Given the description of an element on the screen output the (x, y) to click on. 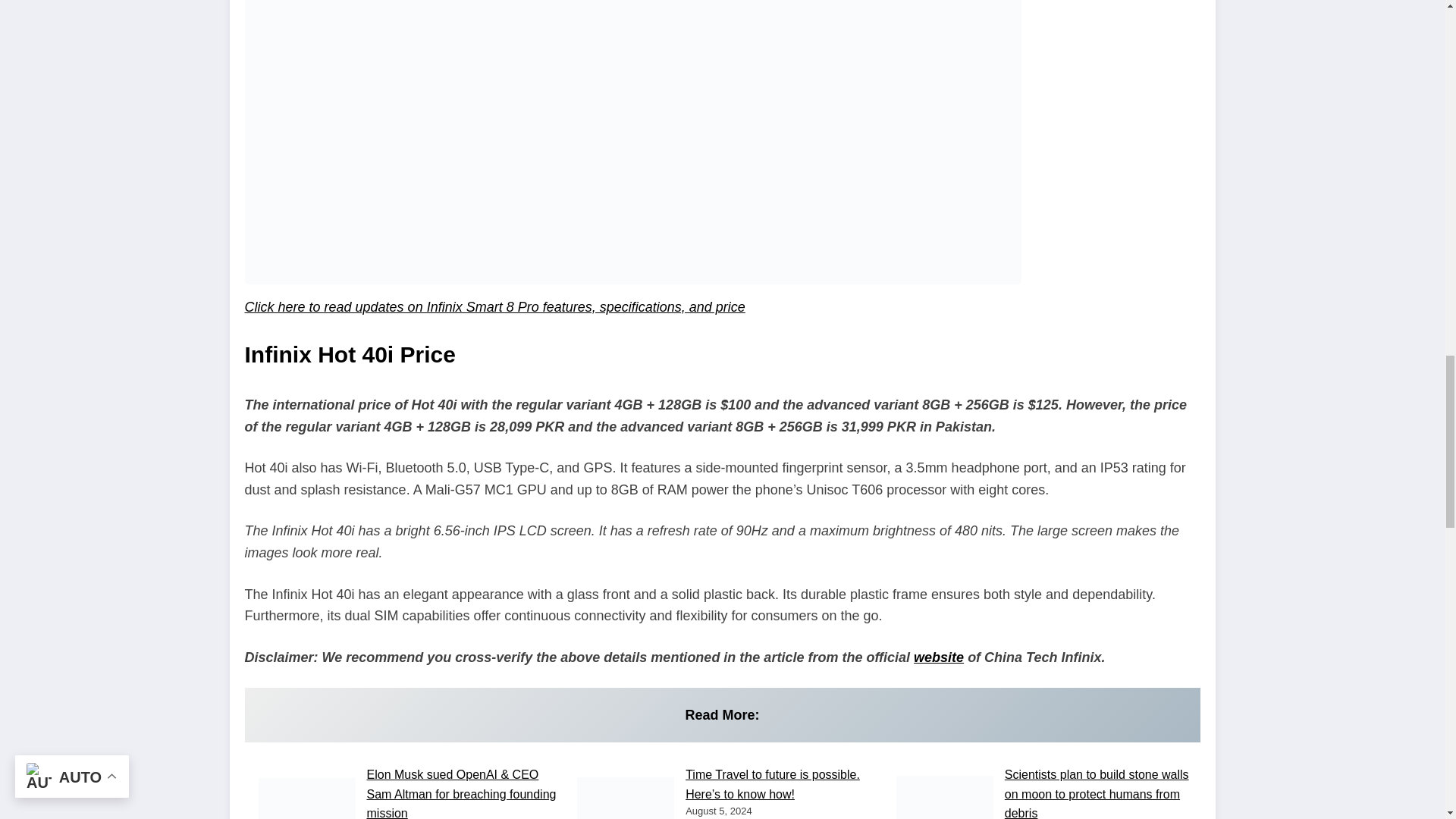
website (938, 657)
